Given the description of an element on the screen output the (x, y) to click on. 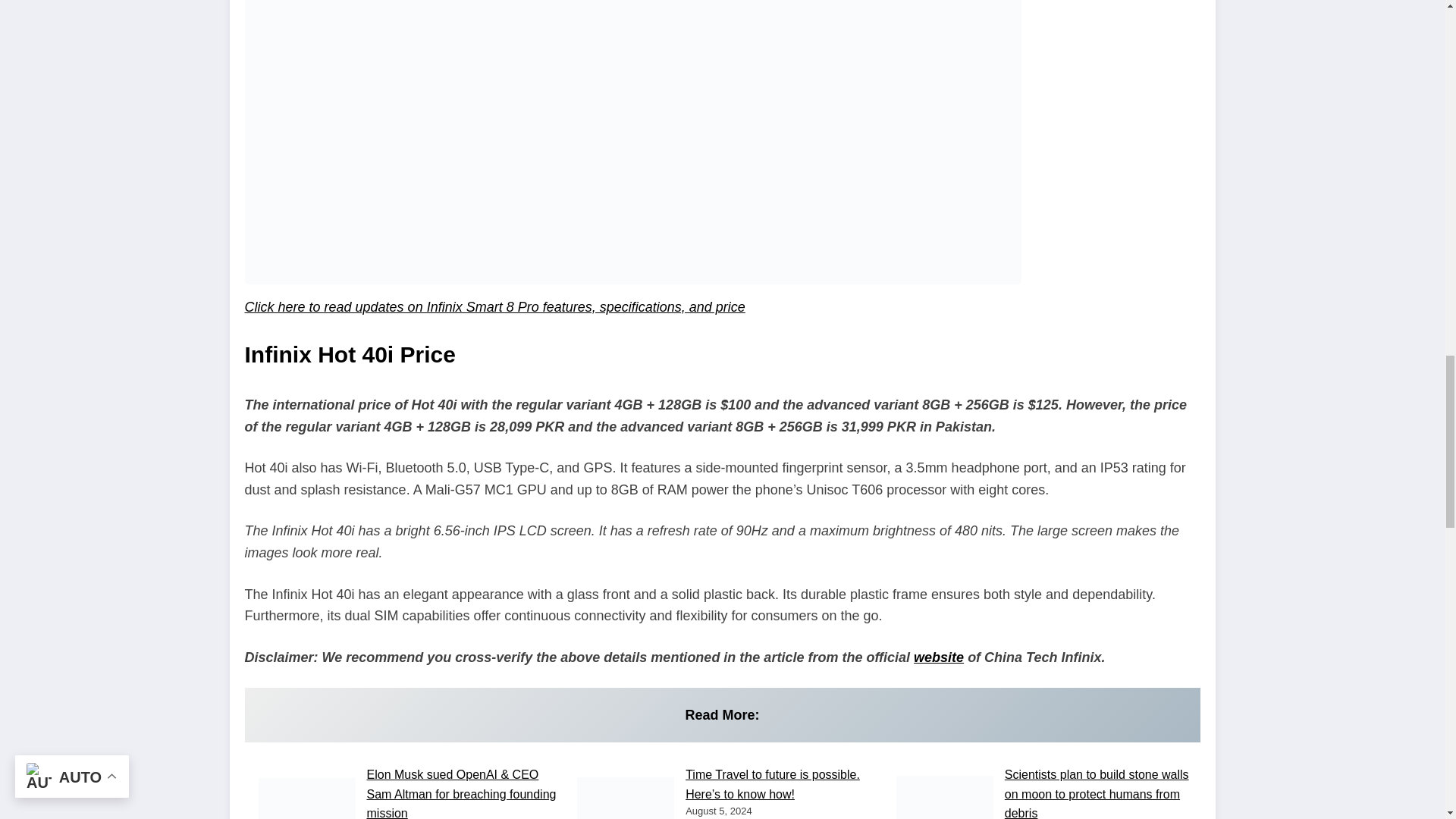
website (938, 657)
